Given the description of an element on the screen output the (x, y) to click on. 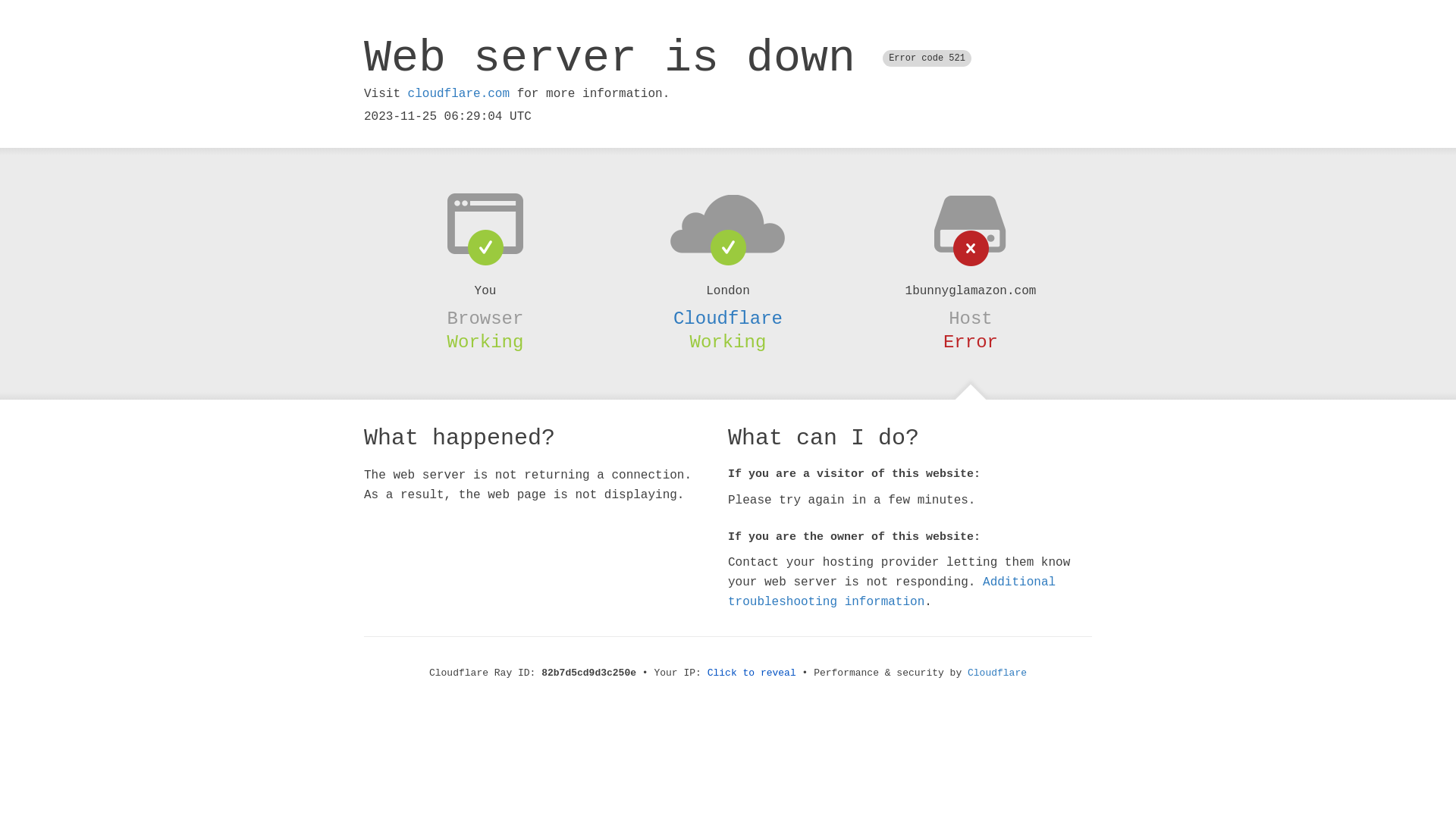
Click to reveal Element type: text (751, 672)
cloudflare.com Element type: text (458, 93)
Cloudflare Element type: text (996, 672)
Cloudflare Element type: text (727, 318)
Additional troubleshooting information Element type: text (891, 591)
